Given the description of an element on the screen output the (x, y) to click on. 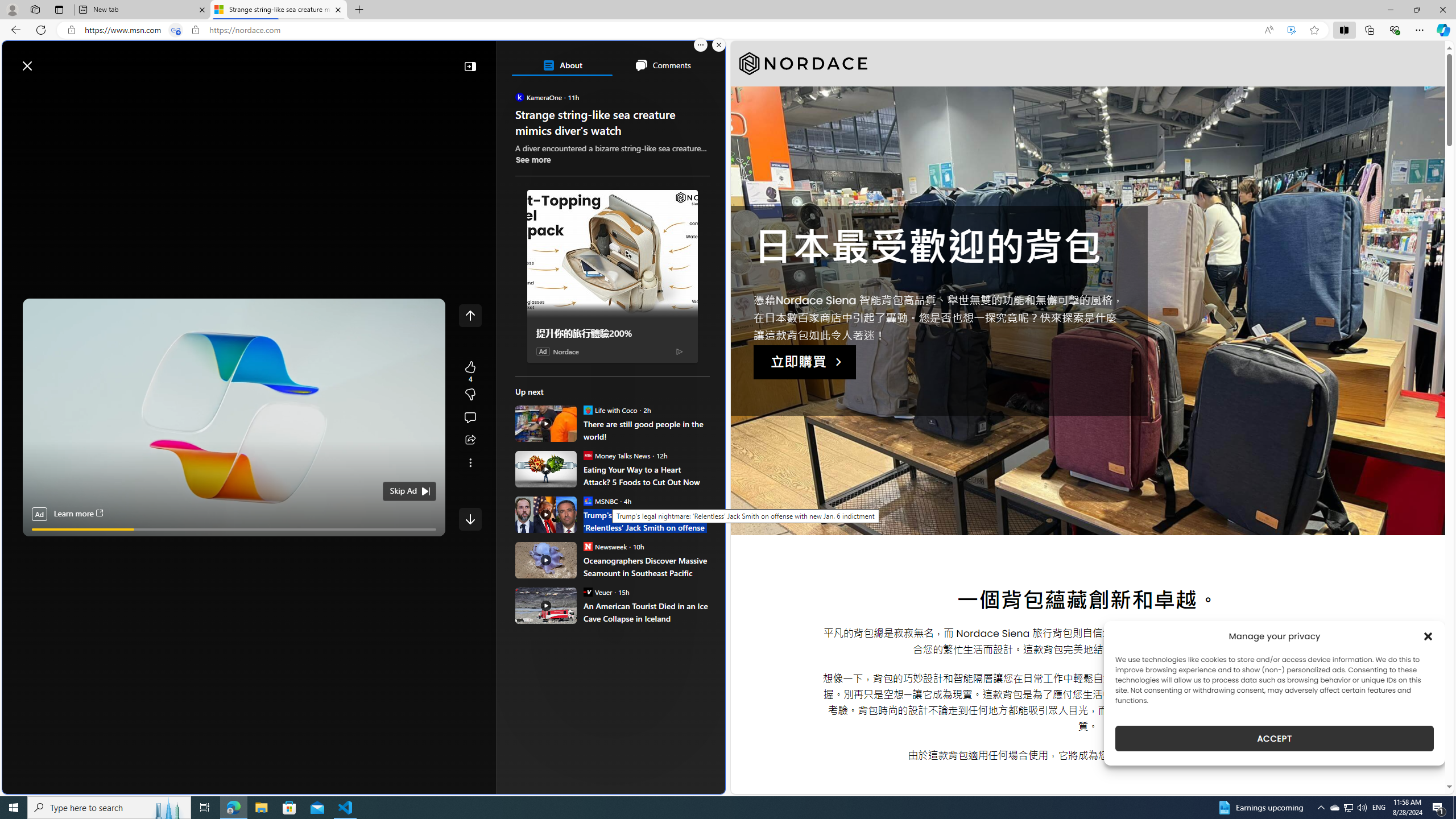
Newsweek Newsweek (604, 546)
Copilot (Ctrl+Shift+.) (1442, 29)
See more (469, 462)
App bar (728, 29)
Collections (1369, 29)
An American Tourist Died in an Ice Cave Collapse in Iceland (646, 611)
See more (533, 159)
Microsoft Start (53, 60)
Personal Profile (12, 9)
Discover (52, 92)
Veuer Veuer (597, 591)
